Given the description of an element on the screen output the (x, y) to click on. 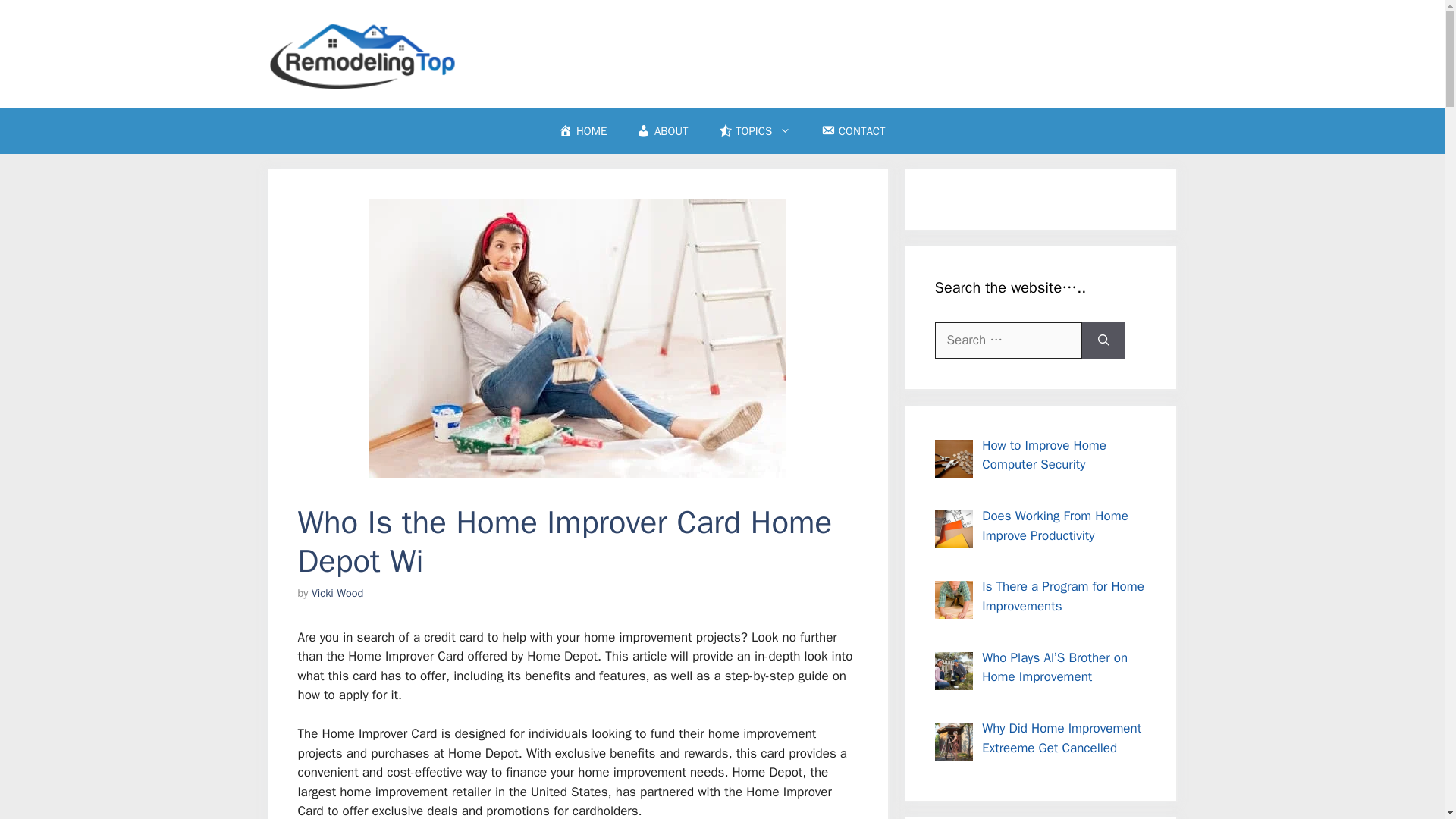
CONTACT (852, 130)
Who Is the Home Improver Card Home Depot Wi 1 (577, 338)
ABOUT (662, 130)
HOME (582, 130)
Vicki Wood (337, 592)
View all posts by Vicki Wood (337, 592)
TOPICS (754, 130)
